Given the description of an element on the screen output the (x, y) to click on. 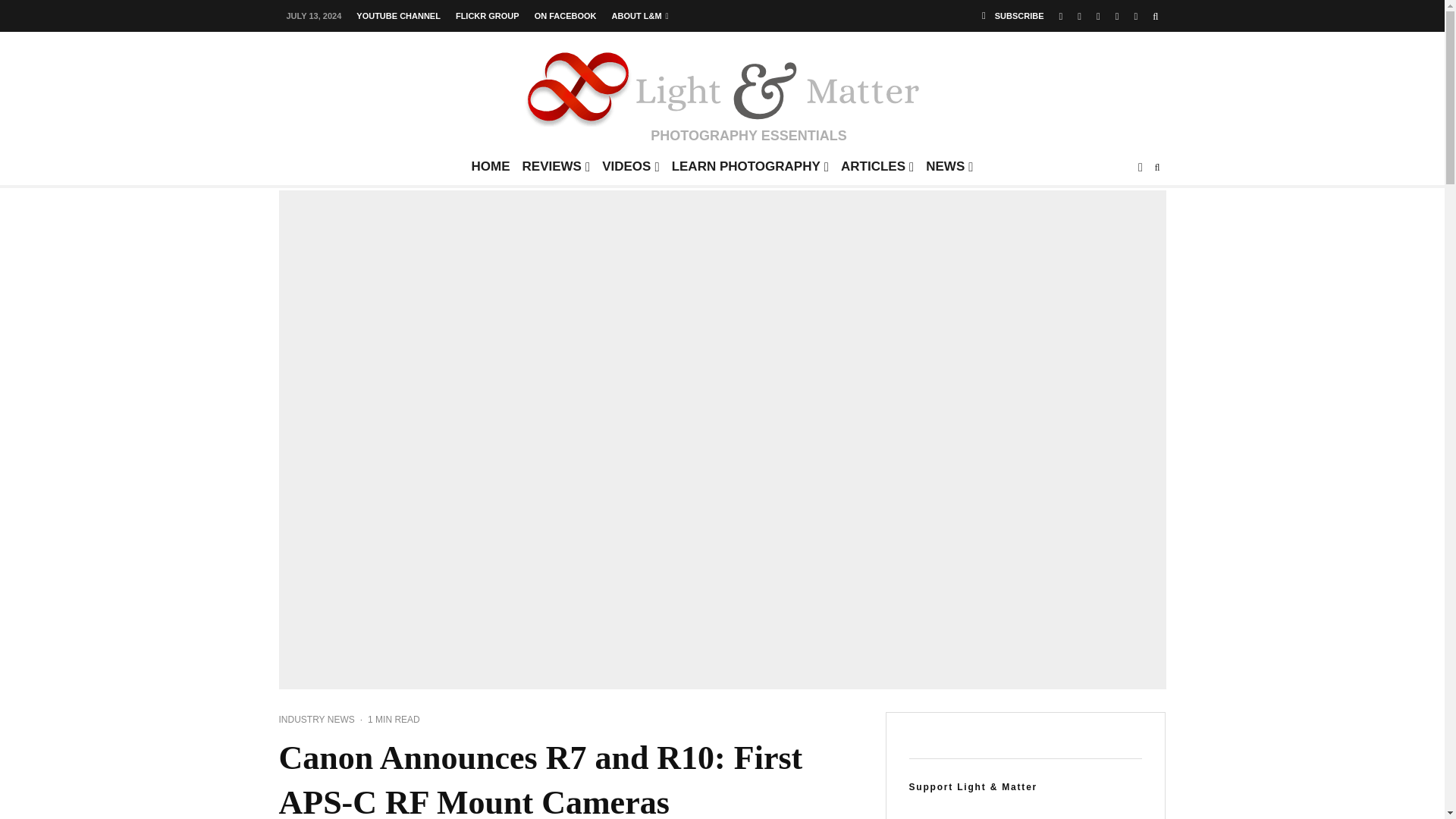
SUBSCRIBE (1012, 15)
FLICKR GROUP (487, 16)
ON FACEBOOK (565, 16)
PHOTOGRAPHY ESSENTIALS (721, 94)
Equipment Reviews (556, 170)
HOME (490, 170)
REVIEWS (556, 170)
YOUTUBE CHANNEL (398, 16)
